Given the description of an element on the screen output the (x, y) to click on. 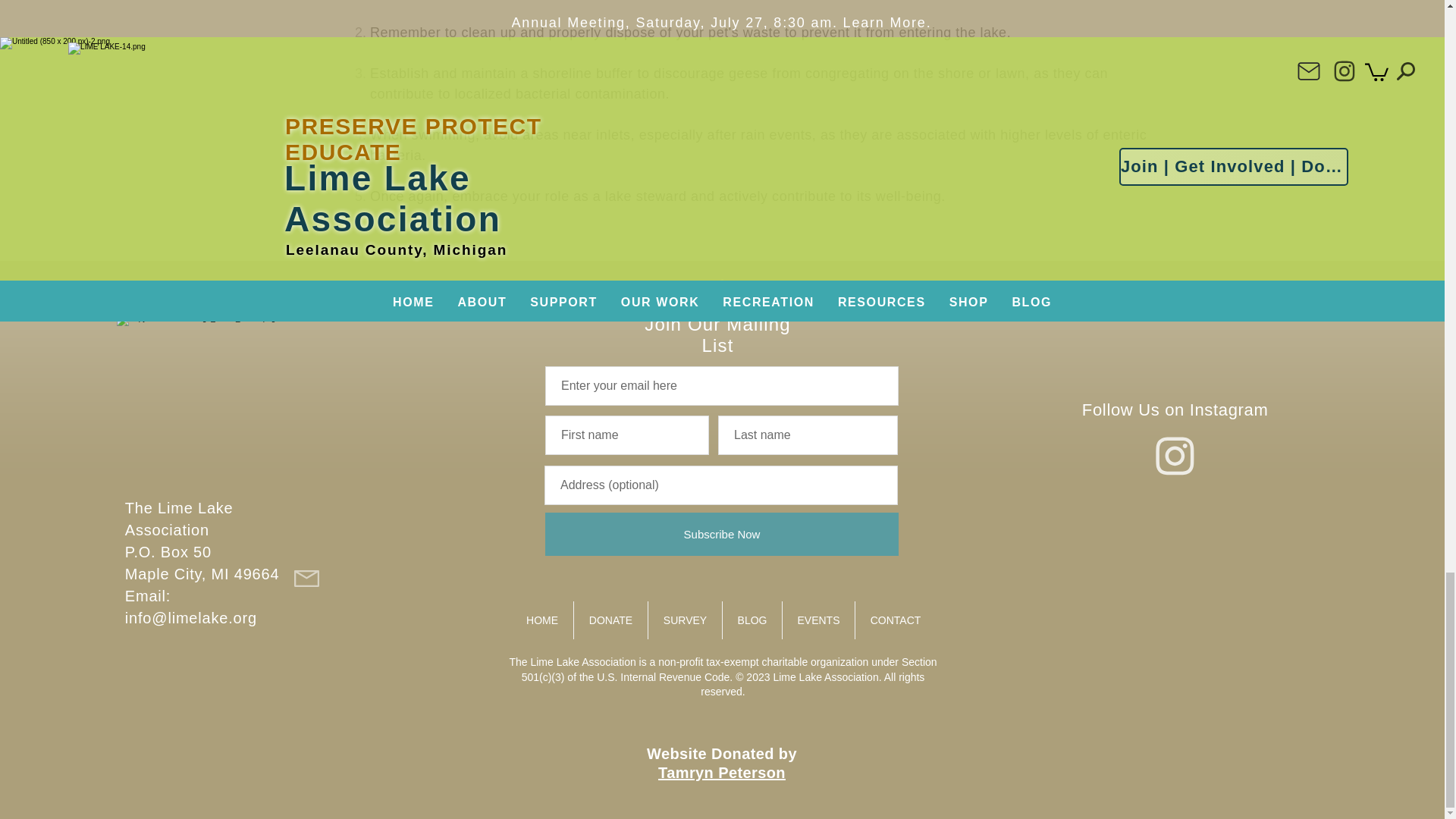
SURVEY (684, 620)
EVENTS (818, 620)
CONTACT (896, 620)
BLOG (751, 620)
DONATE (610, 620)
HOME (542, 620)
Subscribe Now (721, 534)
